Given the description of an element on the screen output the (x, y) to click on. 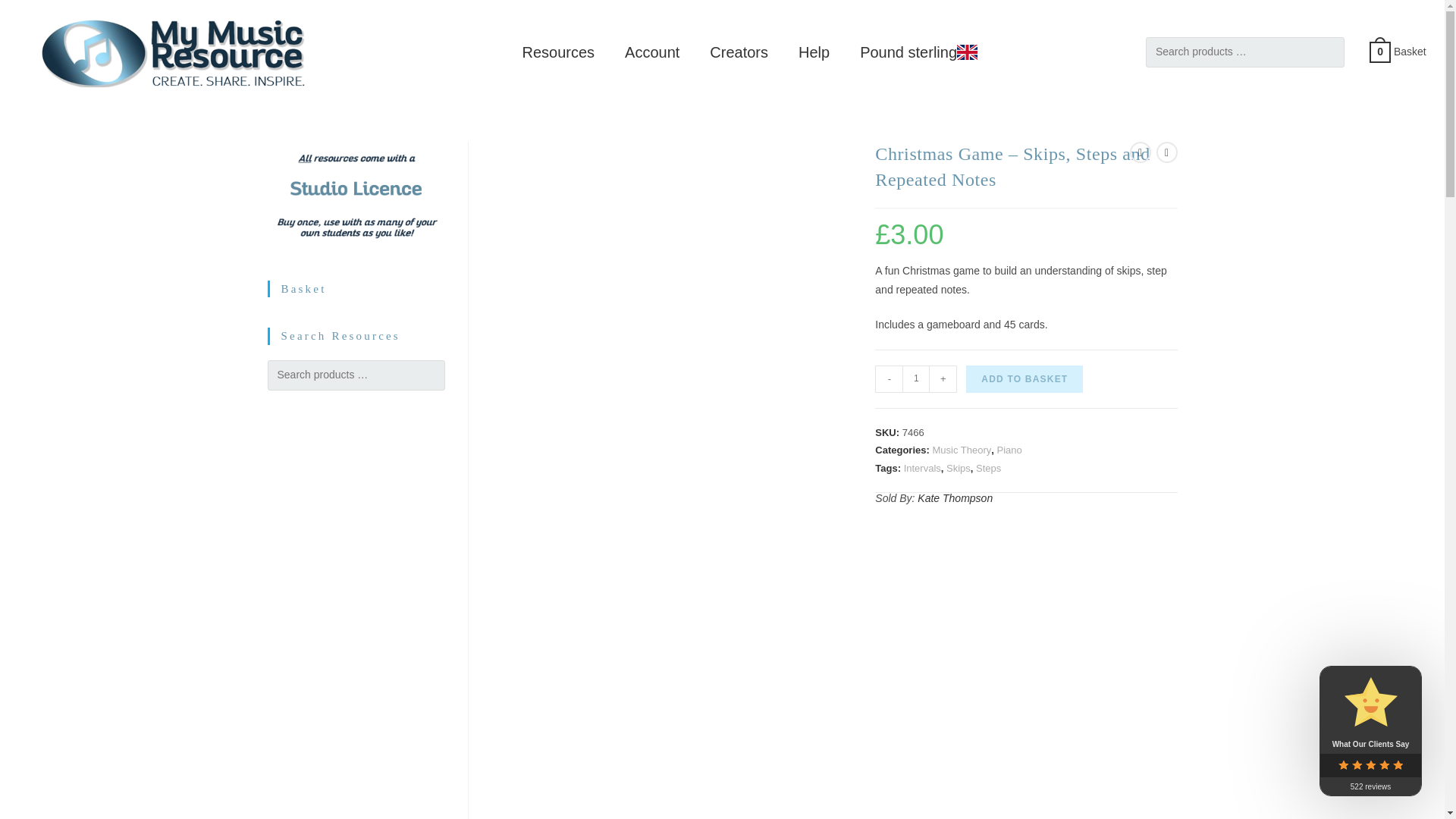
Resources (558, 52)
1 (916, 379)
Account (652, 52)
Creators (738, 52)
Help (813, 52)
0 (1380, 50)
Pound sterling (918, 52)
7466 (1095, 24)
